Given the description of an element on the screen output the (x, y) to click on. 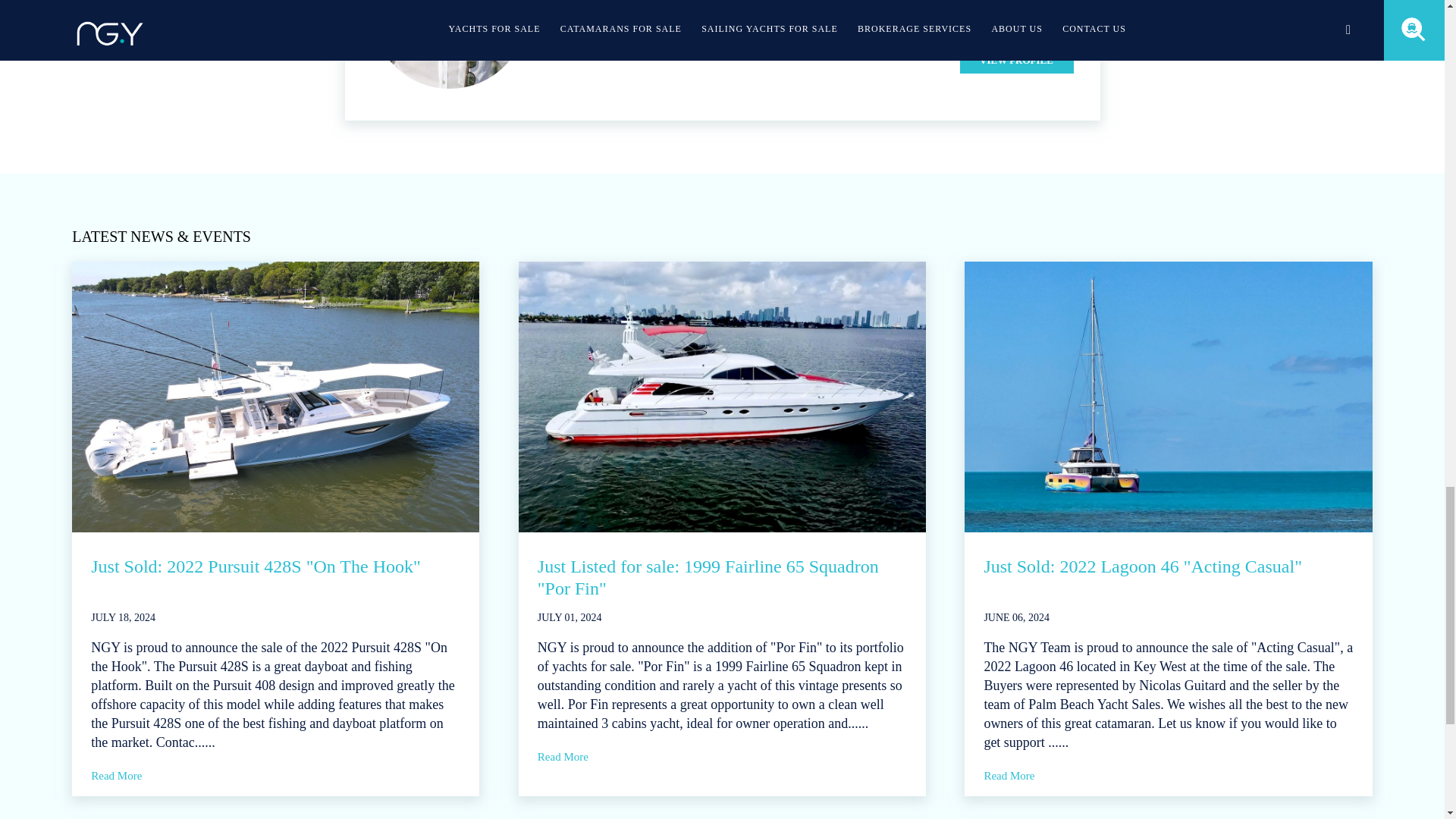
Just Sold: 2022 Lagoon 46  (1167, 396)
Just Sold: 2022 Pursuit 428S  (275, 396)
Just Listed for sale: 1999 Fairline 65 Squadron  (722, 396)
